Given the description of an element on the screen output the (x, y) to click on. 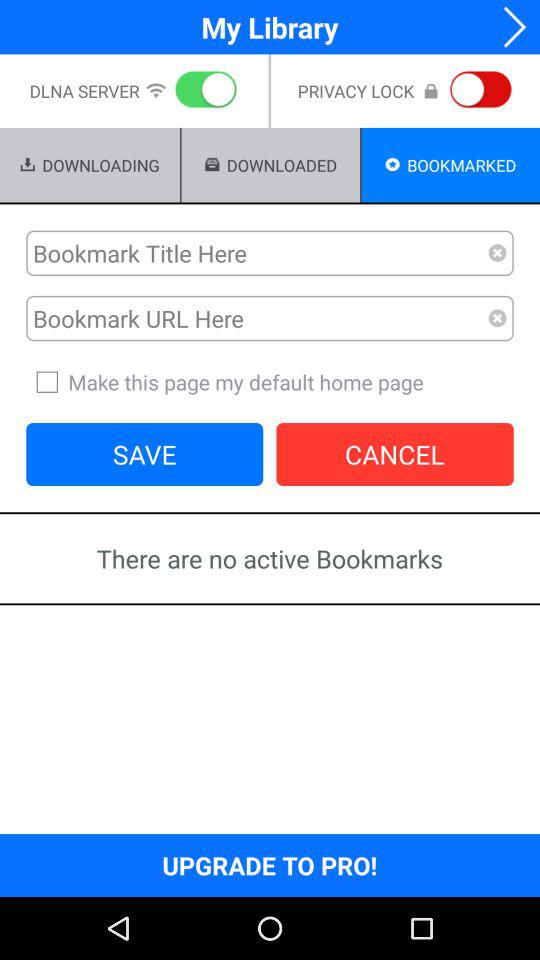
remove bookmark (497, 318)
